Given the description of an element on the screen output the (x, y) to click on. 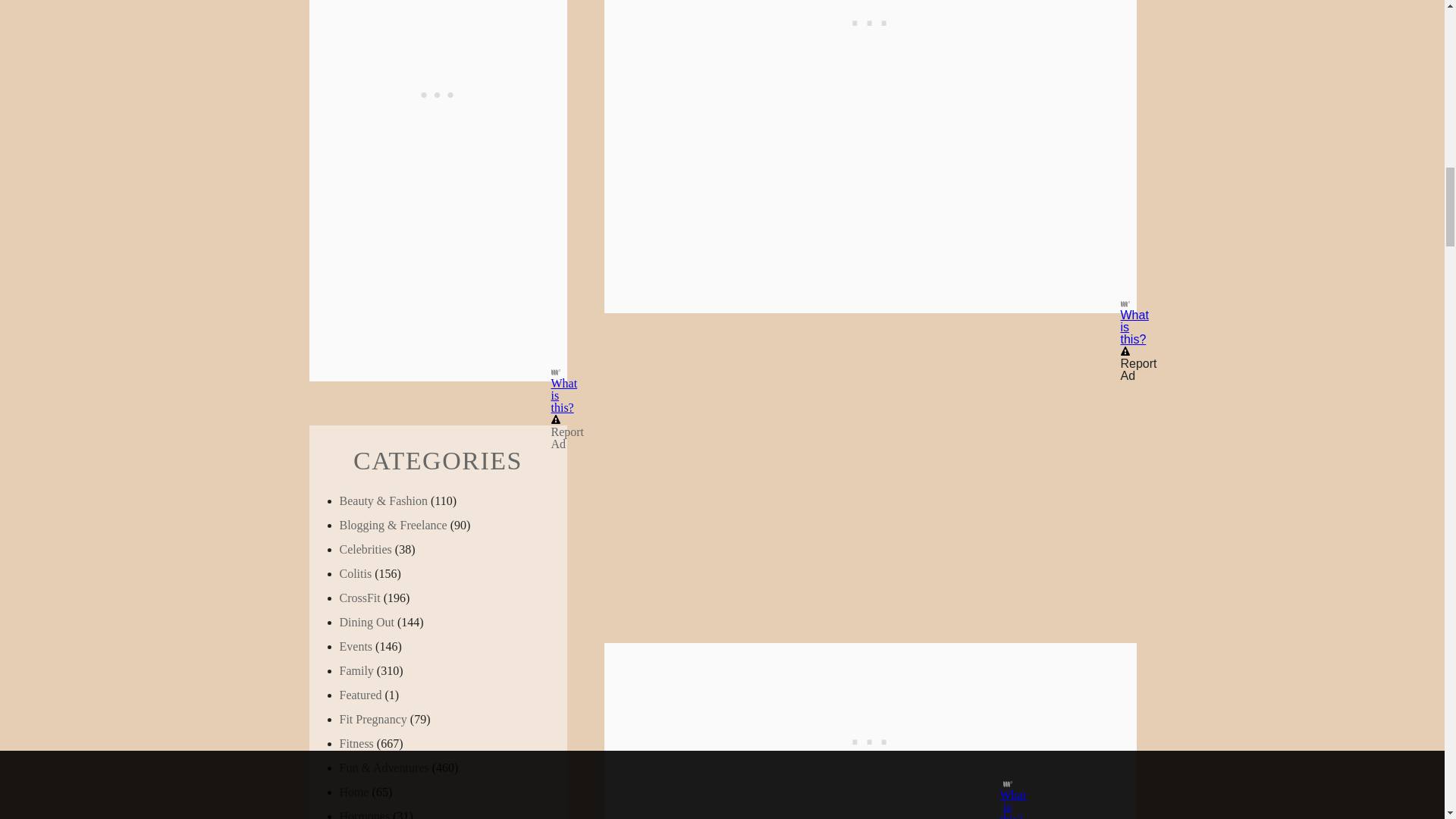
3rd party ad content (870, 730)
3rd party ad content (437, 76)
3rd party ad content (870, 8)
